Given the description of an element on the screen output the (x, y) to click on. 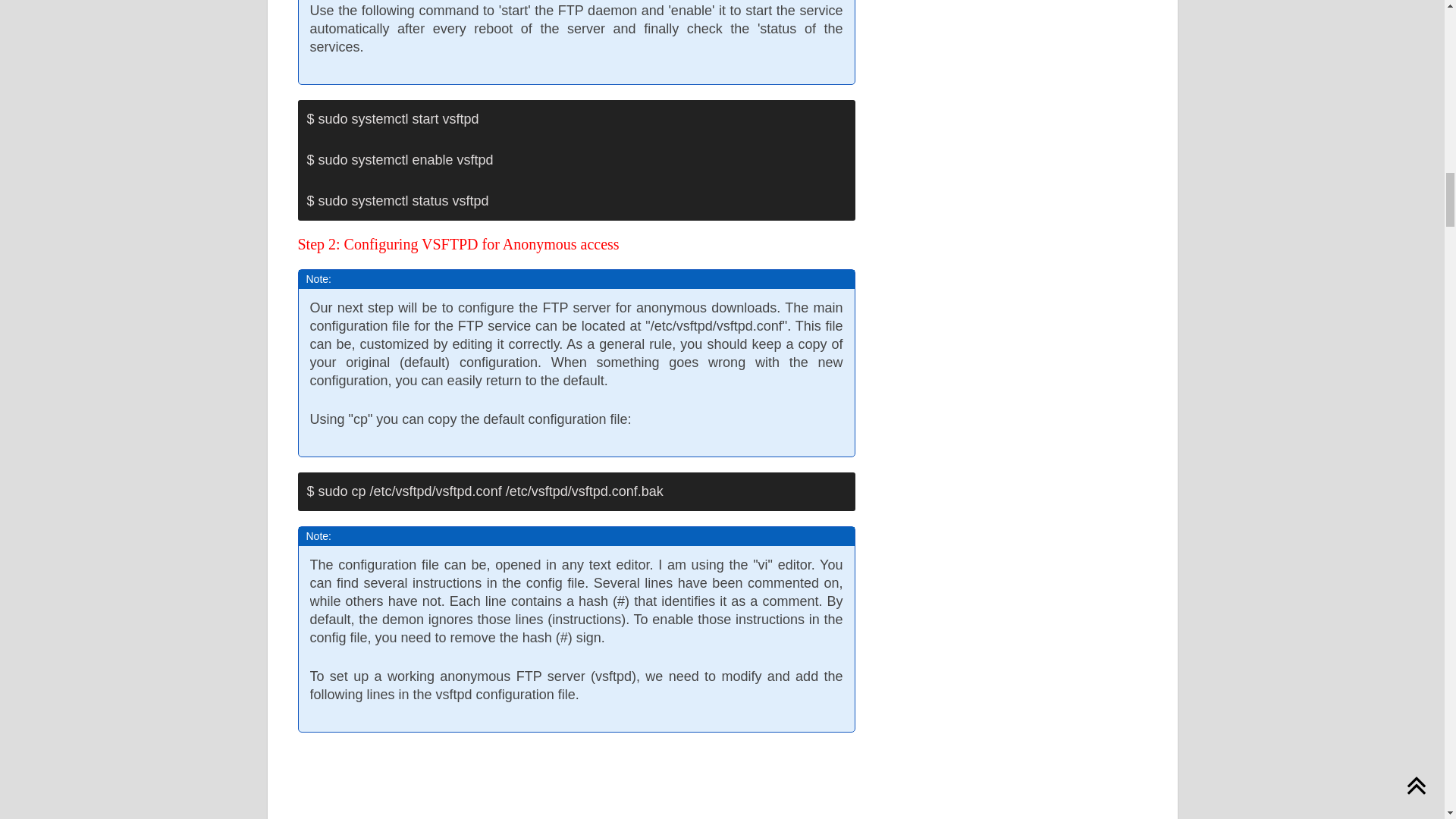
How to Set up Anonymous FTP in Rocky Linux 8.4 3 (562, 783)
